Given the description of an element on the screen output the (x, y) to click on. 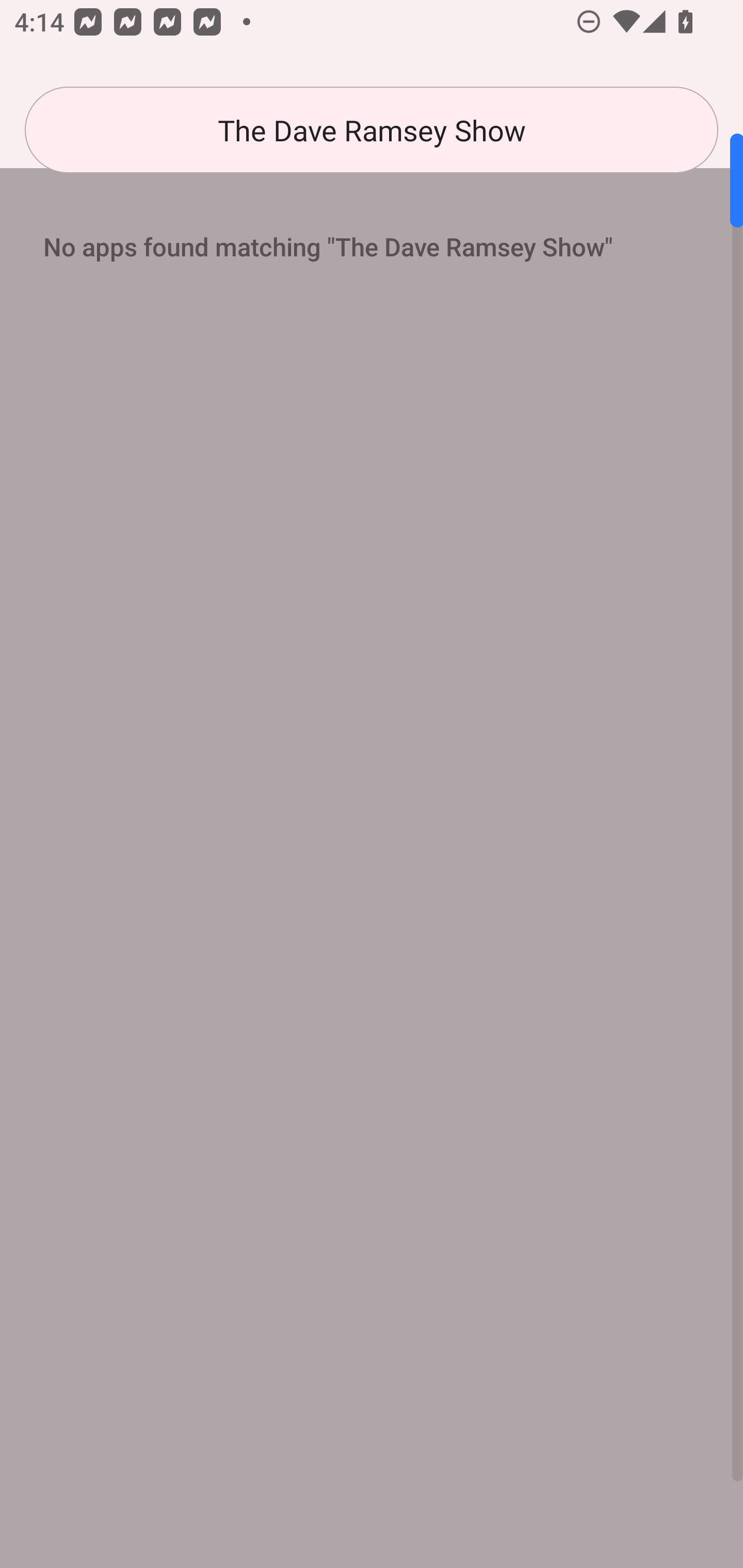
The Dave Ramsey Show (371, 130)
